Given the description of an element on the screen output the (x, y) to click on. 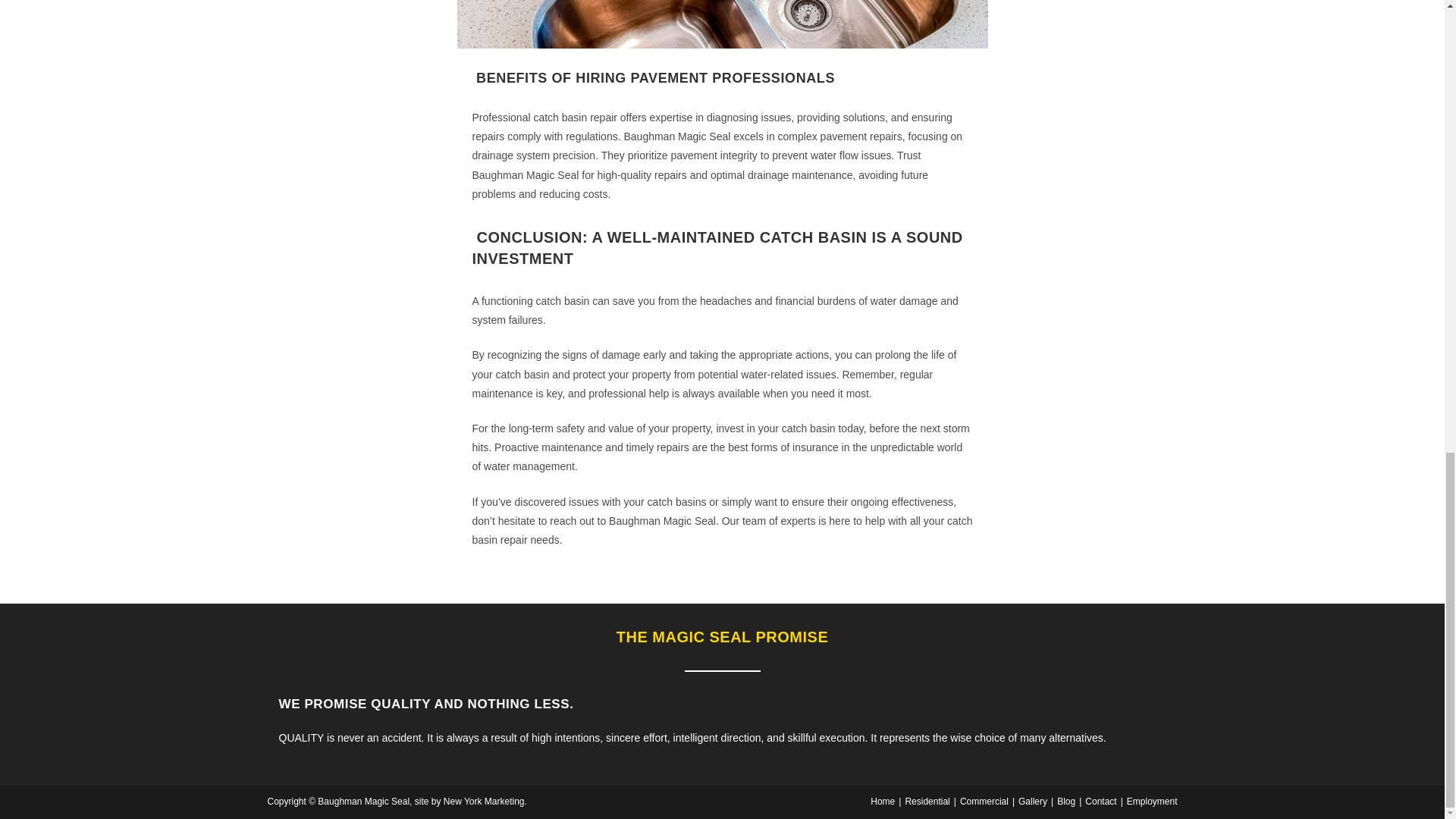
Residential (926, 801)
New York Marketing (484, 801)
Commercial (984, 801)
Blog (1066, 801)
Gallery (1031, 801)
Contact (1100, 801)
Employment (1151, 801)
Home (882, 801)
